Given the description of an element on the screen output the (x, y) to click on. 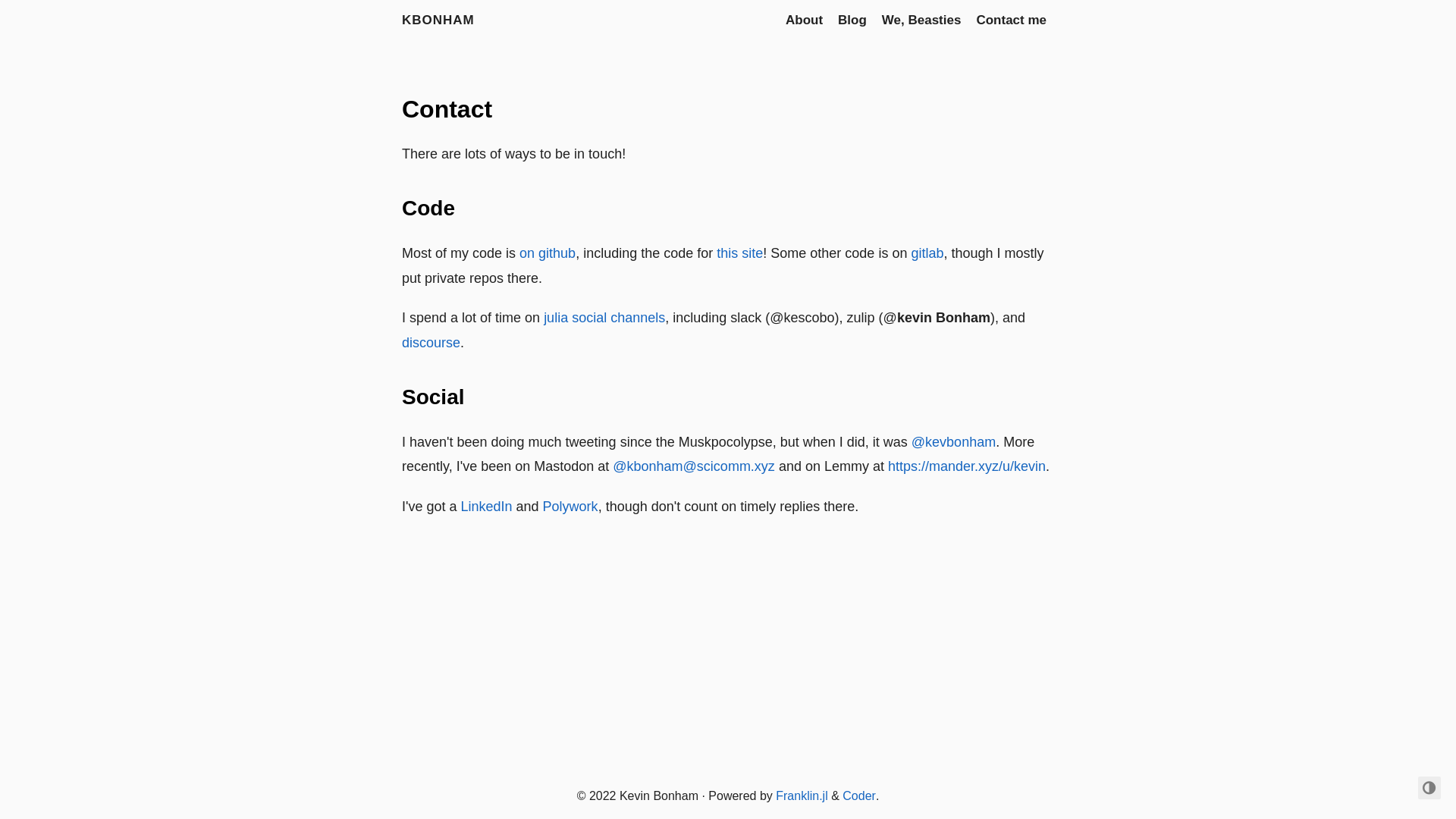
About Element type: text (803, 19)
Contact Element type: text (446, 108)
KBONHAM Element type: text (437, 19)
julia social channels Element type: text (604, 317)
gitlab Element type: text (926, 252)
on github Element type: text (547, 252)
@kbonham@scicomm.xyz Element type: text (693, 465)
LinkedIn Element type: text (485, 506)
https://mander.xyz/u/kevin Element type: text (966, 465)
@kevbonham Element type: text (953, 441)
this site Element type: text (739, 252)
Contact me Element type: text (1010, 19)
Franklin.jl Element type: text (801, 795)
discourse Element type: text (430, 342)
Blog Element type: text (851, 19)
We, Beasties Element type: text (921, 19)
Coder Element type: text (858, 795)
Polywork Element type: text (570, 506)
